Given the description of an element on the screen output the (x, y) to click on. 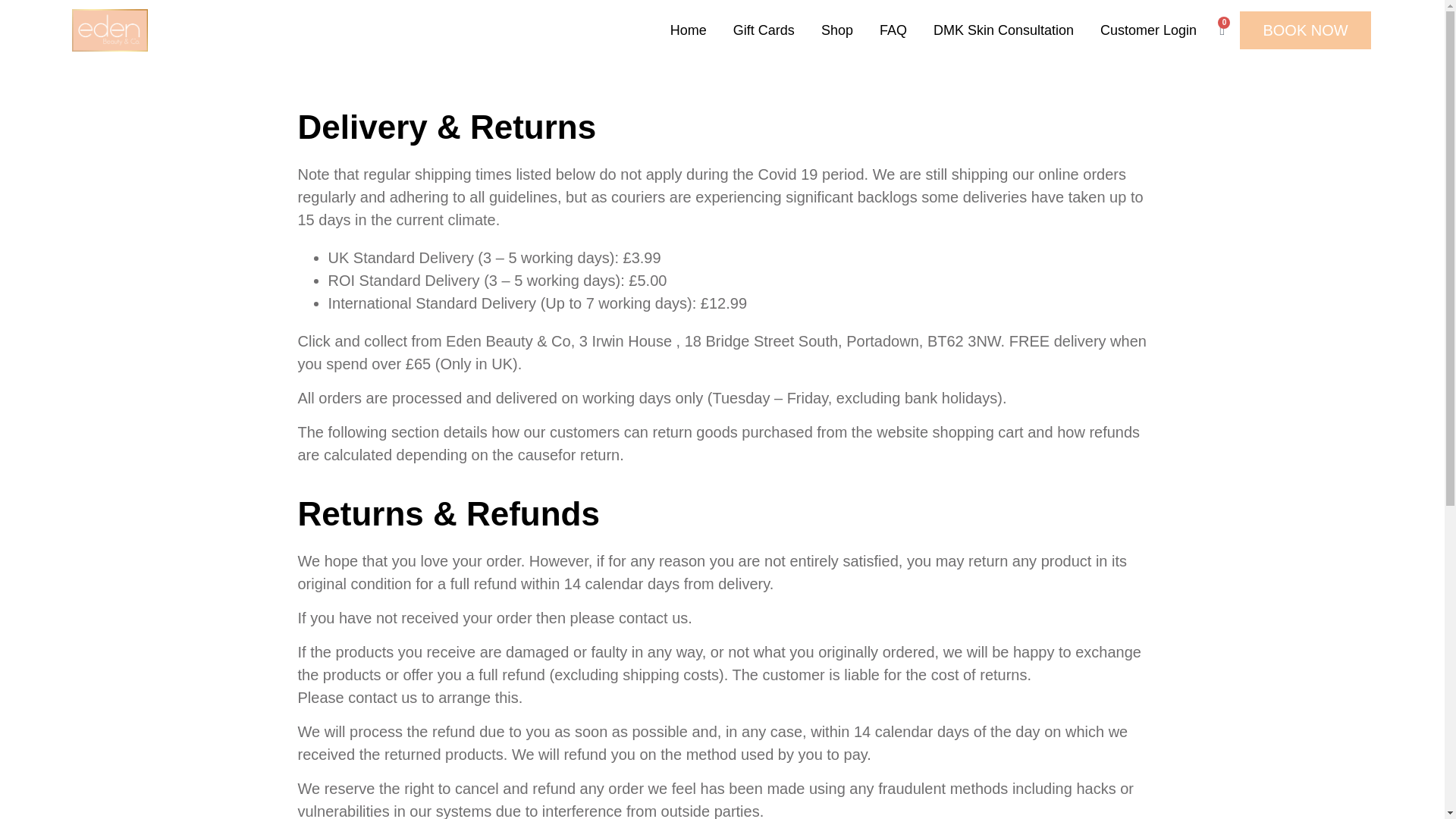
Shop (836, 30)
Customer Login (1148, 30)
Home (688, 30)
BOOK NOW (1305, 30)
DMK Skin Consultation (1003, 30)
FAQ (893, 30)
Gift Cards (763, 30)
